Given the description of an element on the screen output the (x, y) to click on. 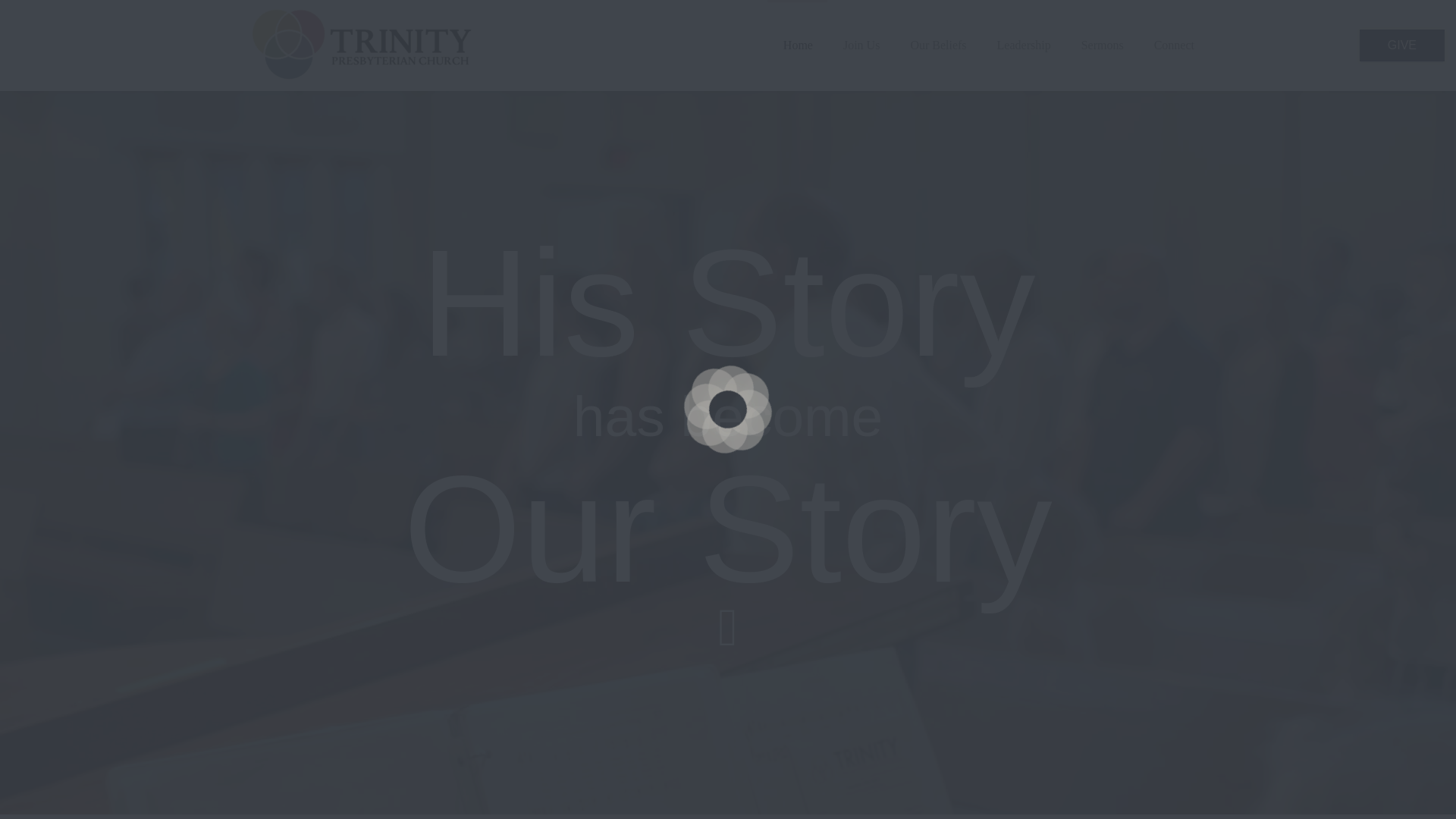
Our Beliefs (938, 45)
Leadership (1023, 45)
Our Beliefs (938, 45)
GIVE (1401, 45)
Leadership (1023, 45)
